Given the description of an element on the screen output the (x, y) to click on. 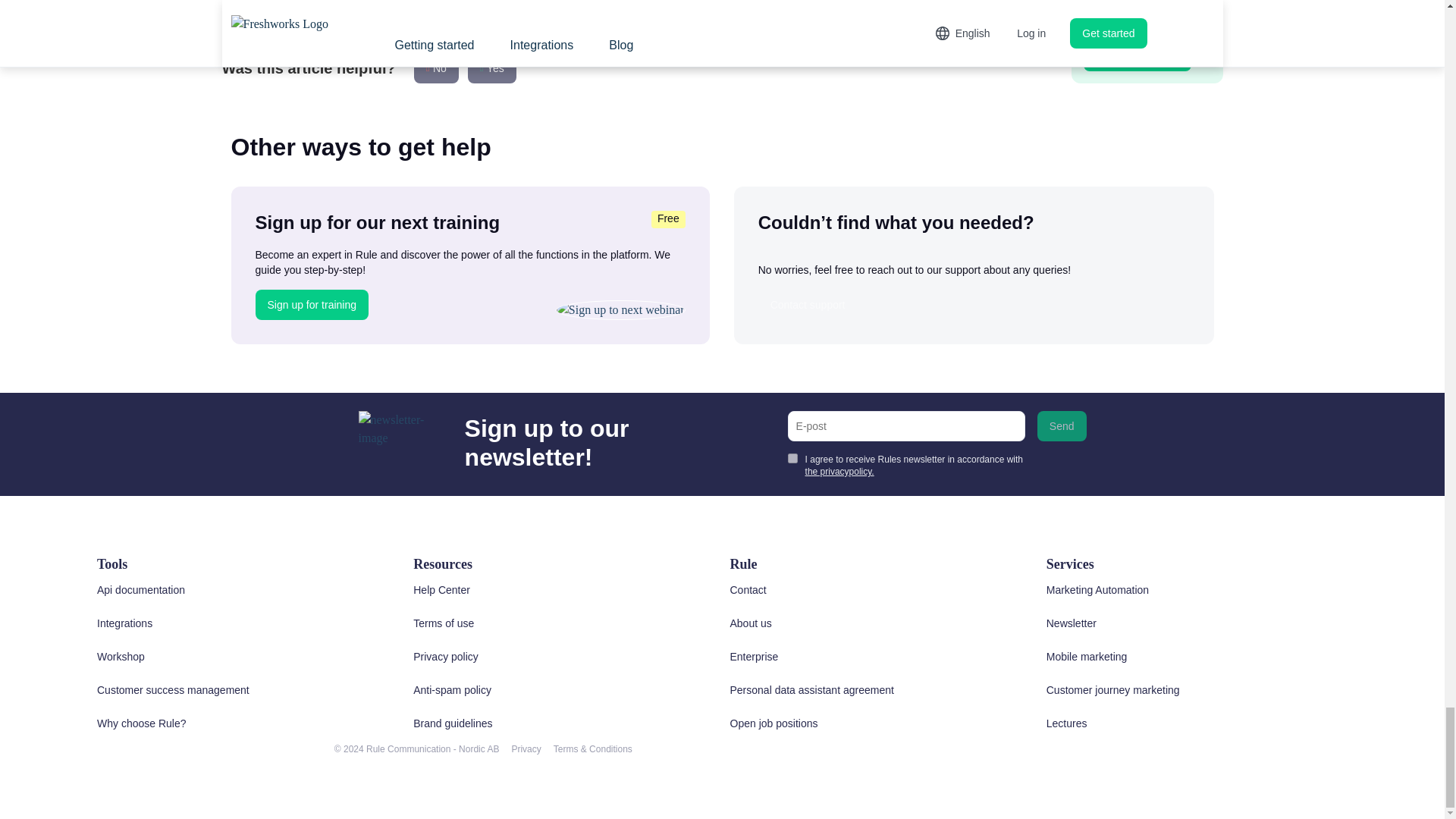
Yes (491, 68)
on (792, 458)
No (435, 68)
